Given the description of an element on the screen output the (x, y) to click on. 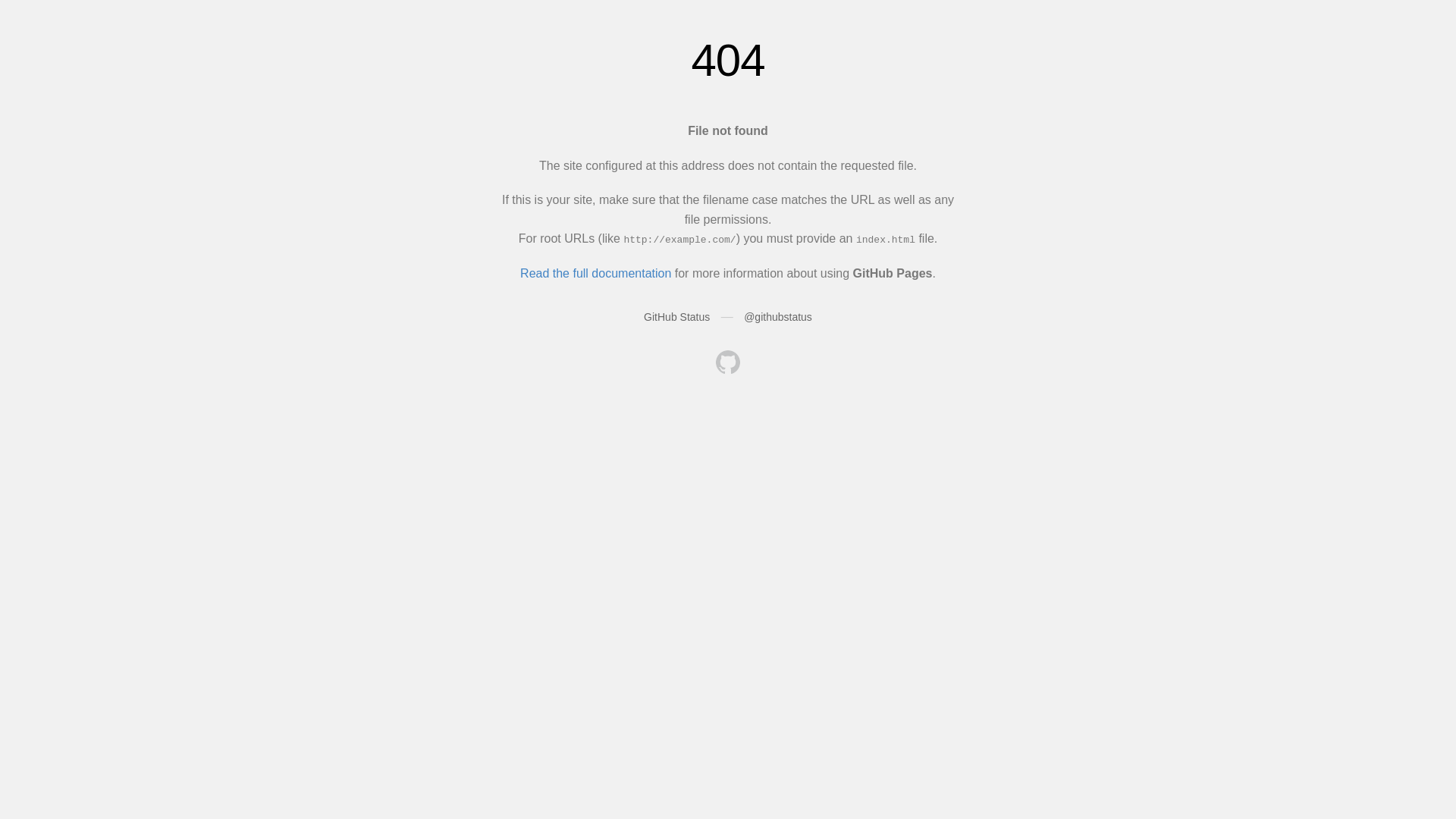
GitHub Status Element type: text (676, 316)
@githubstatus Element type: text (777, 316)
Read the full documentation Element type: text (595, 272)
